Given the description of an element on the screen output the (x, y) to click on. 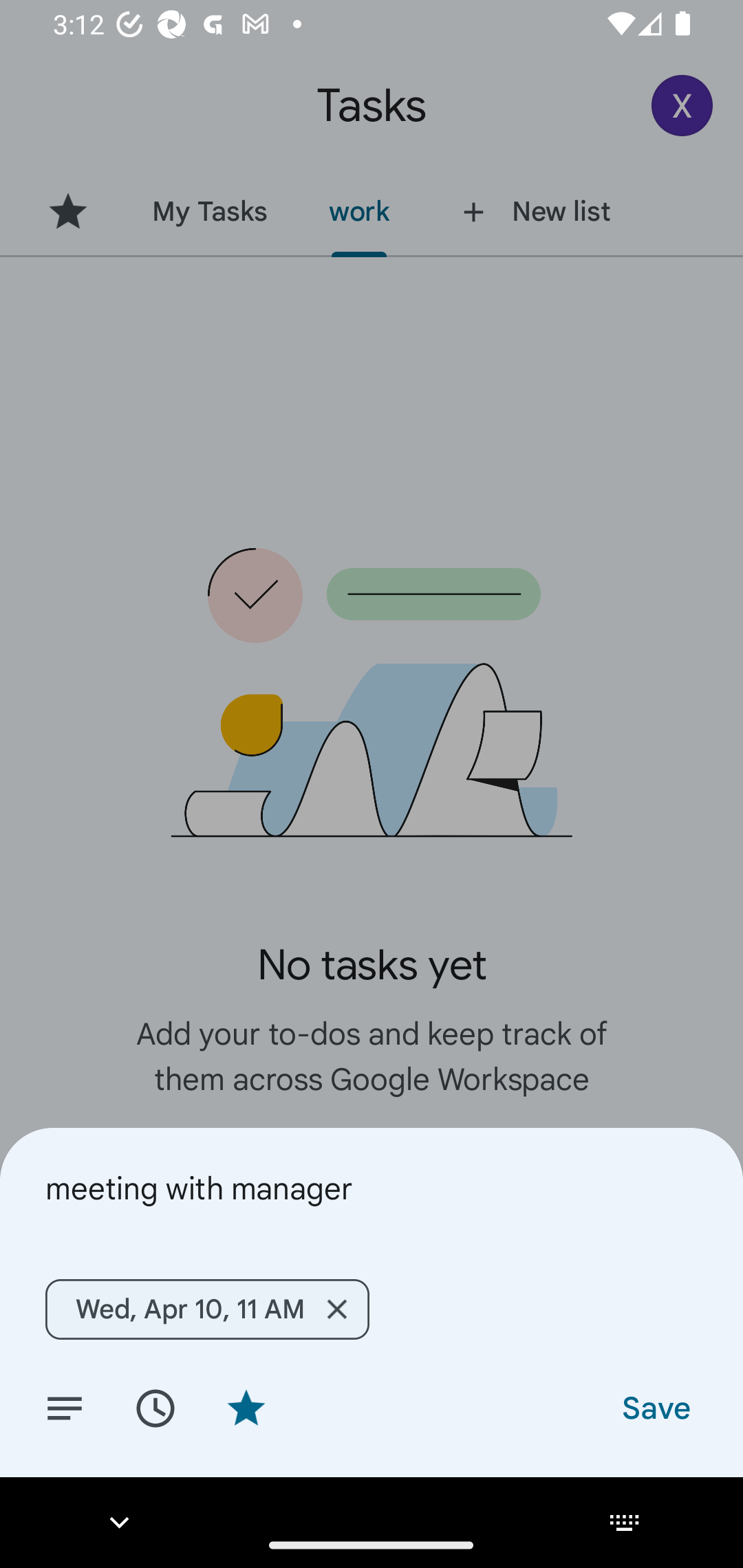
meeting with manager (371, 1188)
Wed, Apr 10, 11 AM Remove Wed, Apr 10, 11 AM (207, 1308)
Save (655, 1407)
Add details (64, 1407)
Set date/time (154, 1407)
Remove star (245, 1407)
